Given the description of an element on the screen output the (x, y) to click on. 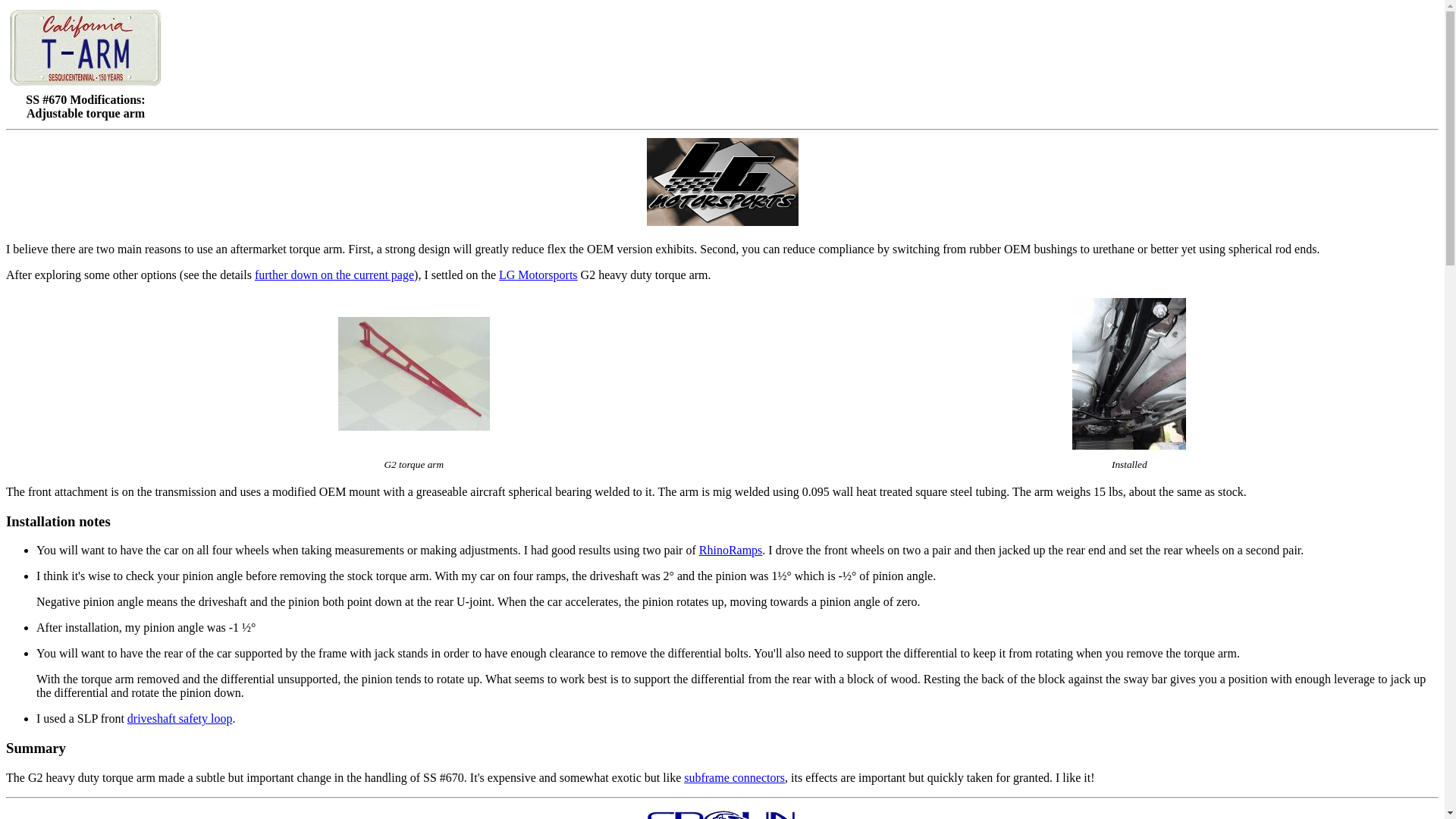
subframe connectors (734, 777)
RhinoRamps (730, 549)
further down on the current page (333, 274)
driveshaft safety loop (180, 717)
LG Motorsports (538, 274)
